Given the description of an element on the screen output the (x, y) to click on. 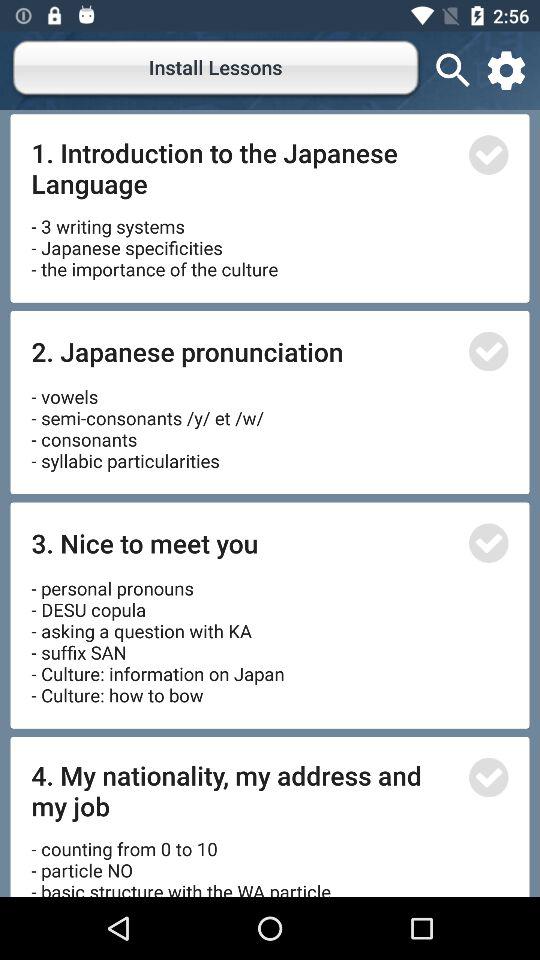
open the item below 2. japanese pronunciation item (150, 422)
